Given the description of an element on the screen output the (x, y) to click on. 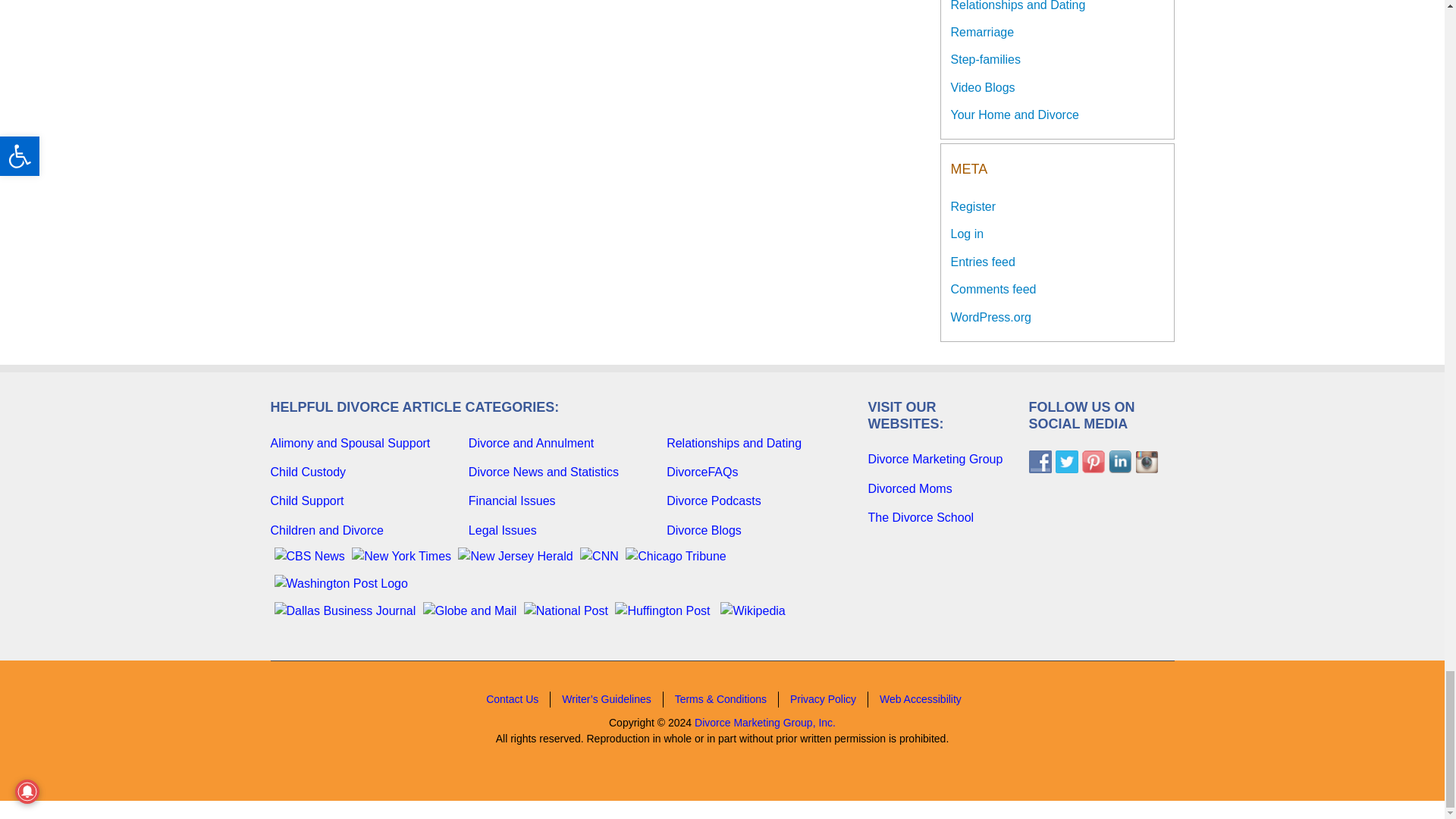
Twitter (1066, 461)
Instagram (1145, 461)
Facebook (1039, 461)
LinkedIn (1119, 461)
Pinterest (1092, 461)
